Given the description of an element on the screen output the (x, y) to click on. 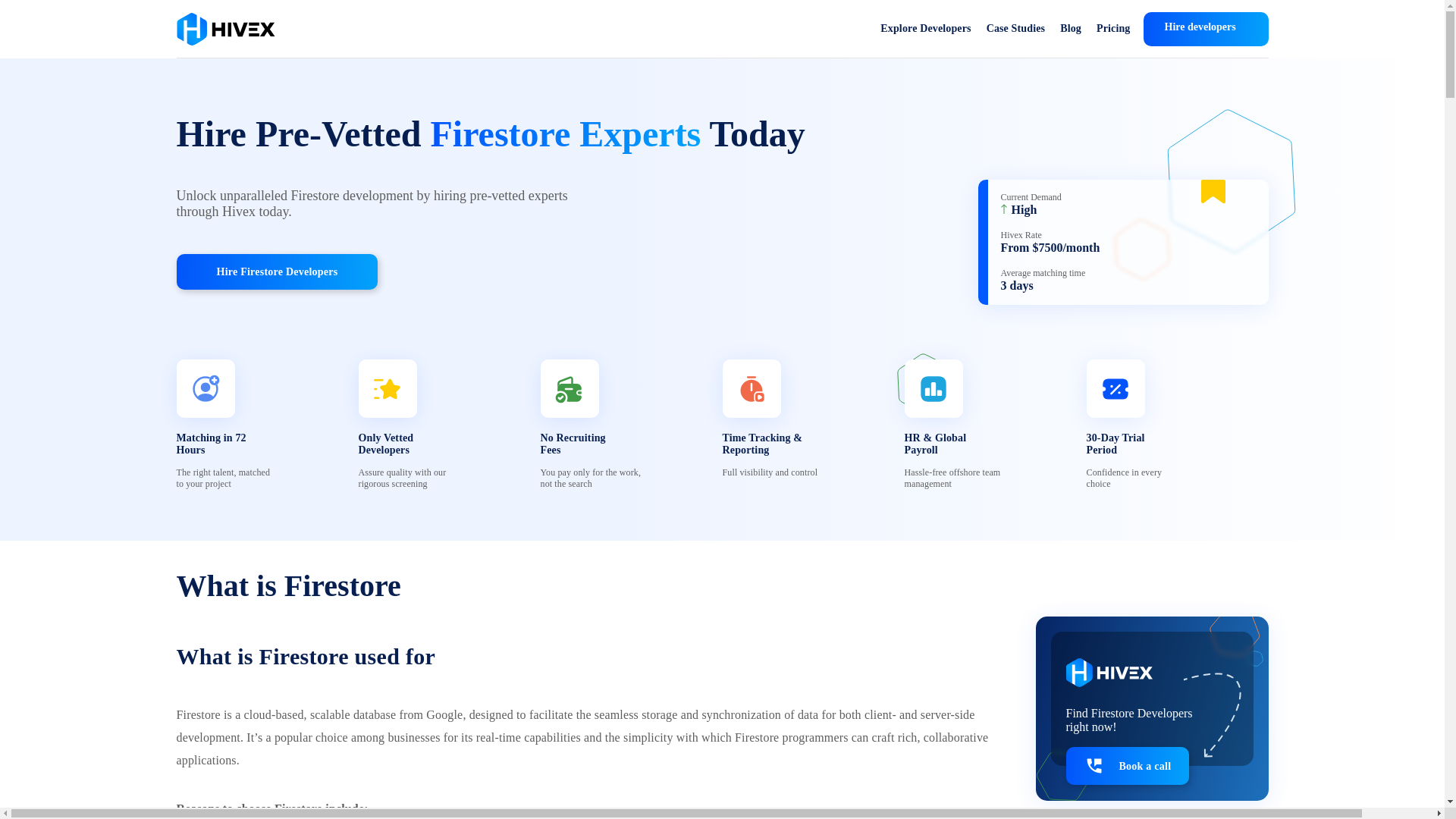
Explore Developers (925, 28)
Pricing (1113, 28)
Case Studies (1016, 28)
Blog (1070, 28)
Hire developers (1205, 28)
Hire Firestore Developers (276, 271)
Book a call (1127, 765)
